Given the description of an element on the screen output the (x, y) to click on. 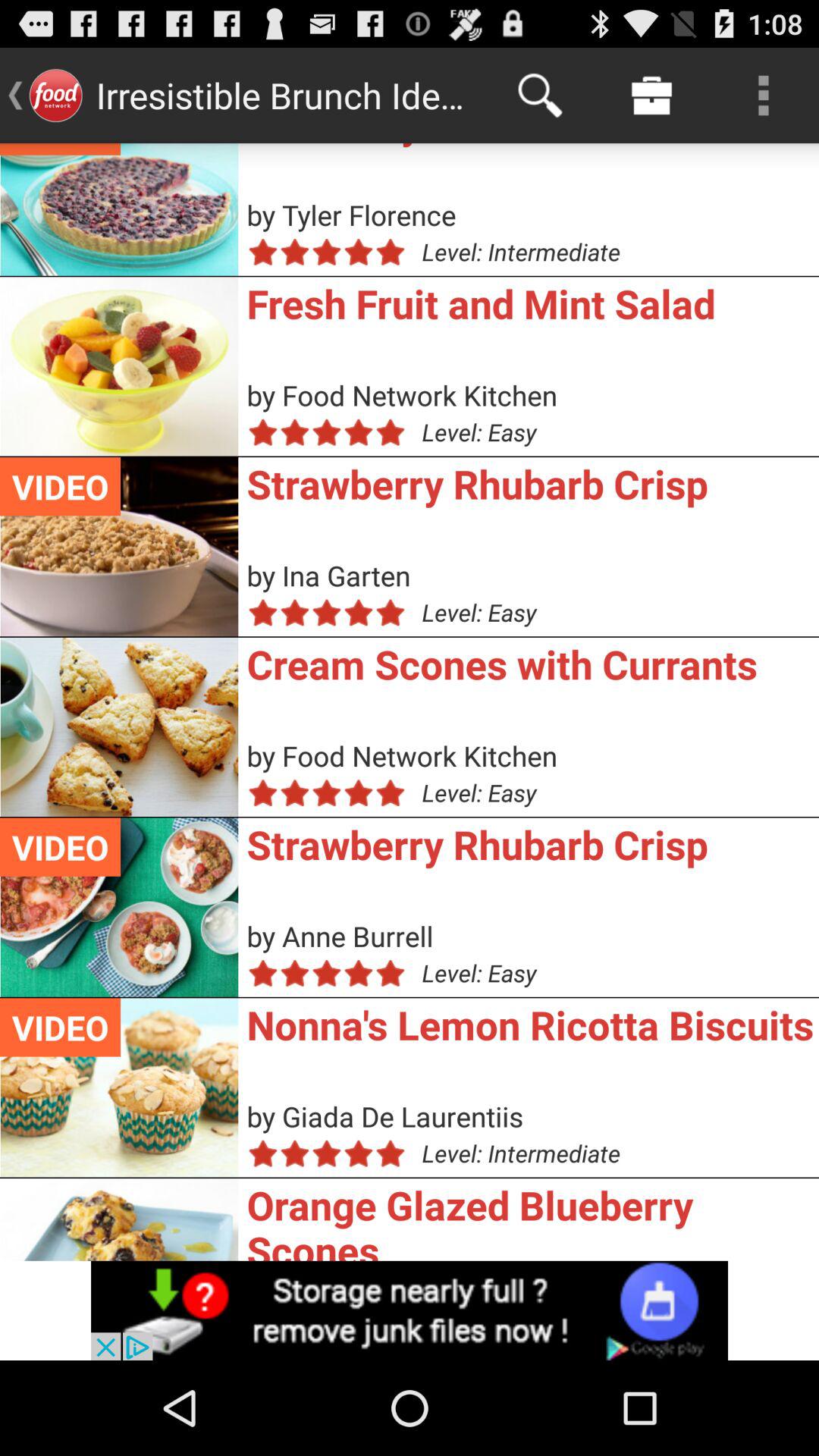
advert banner (409, 1310)
